Given the description of an element on the screen output the (x, y) to click on. 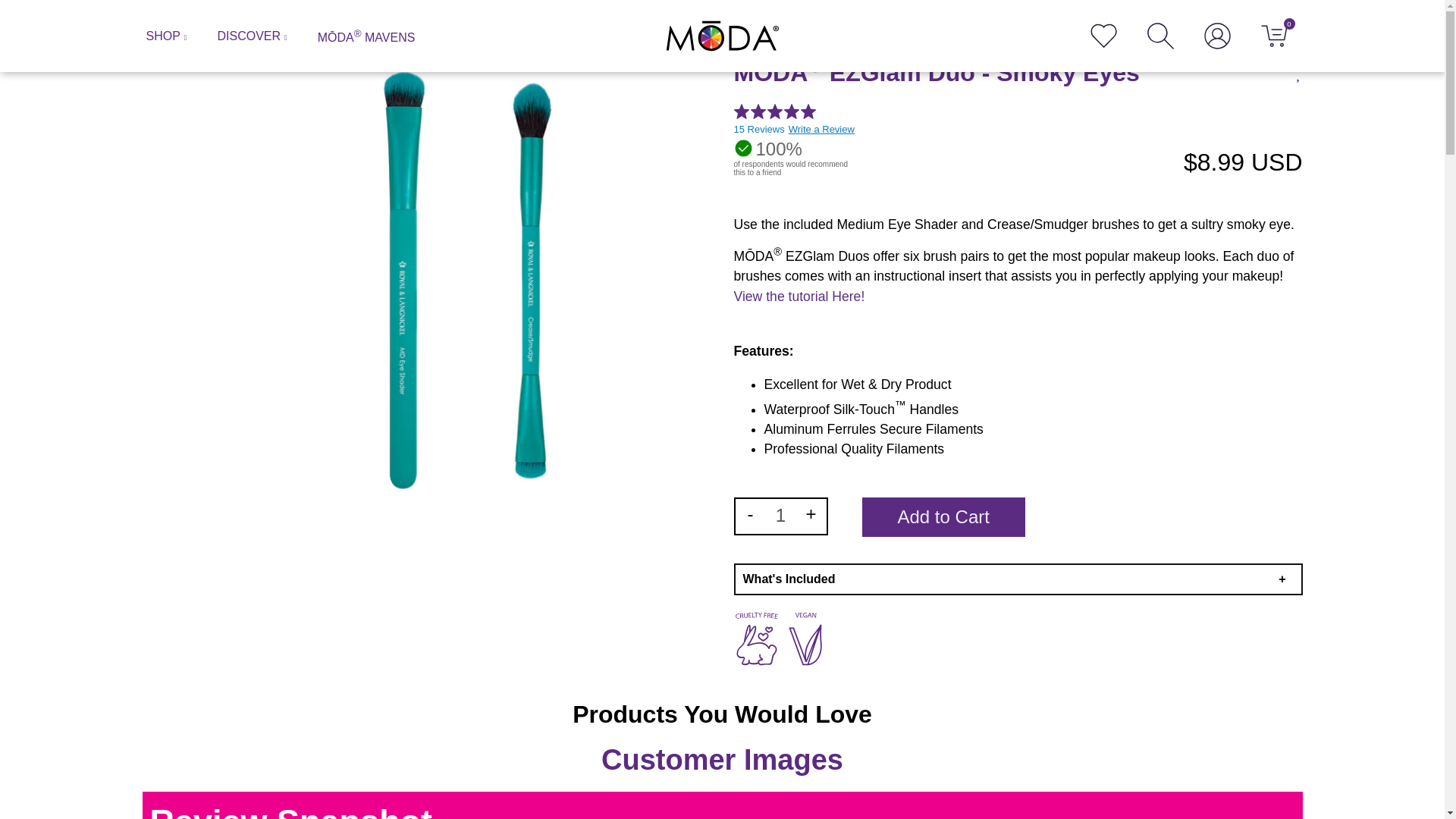
1 (780, 515)
SHOP (165, 35)
